Given the description of an element on the screen output the (x, y) to click on. 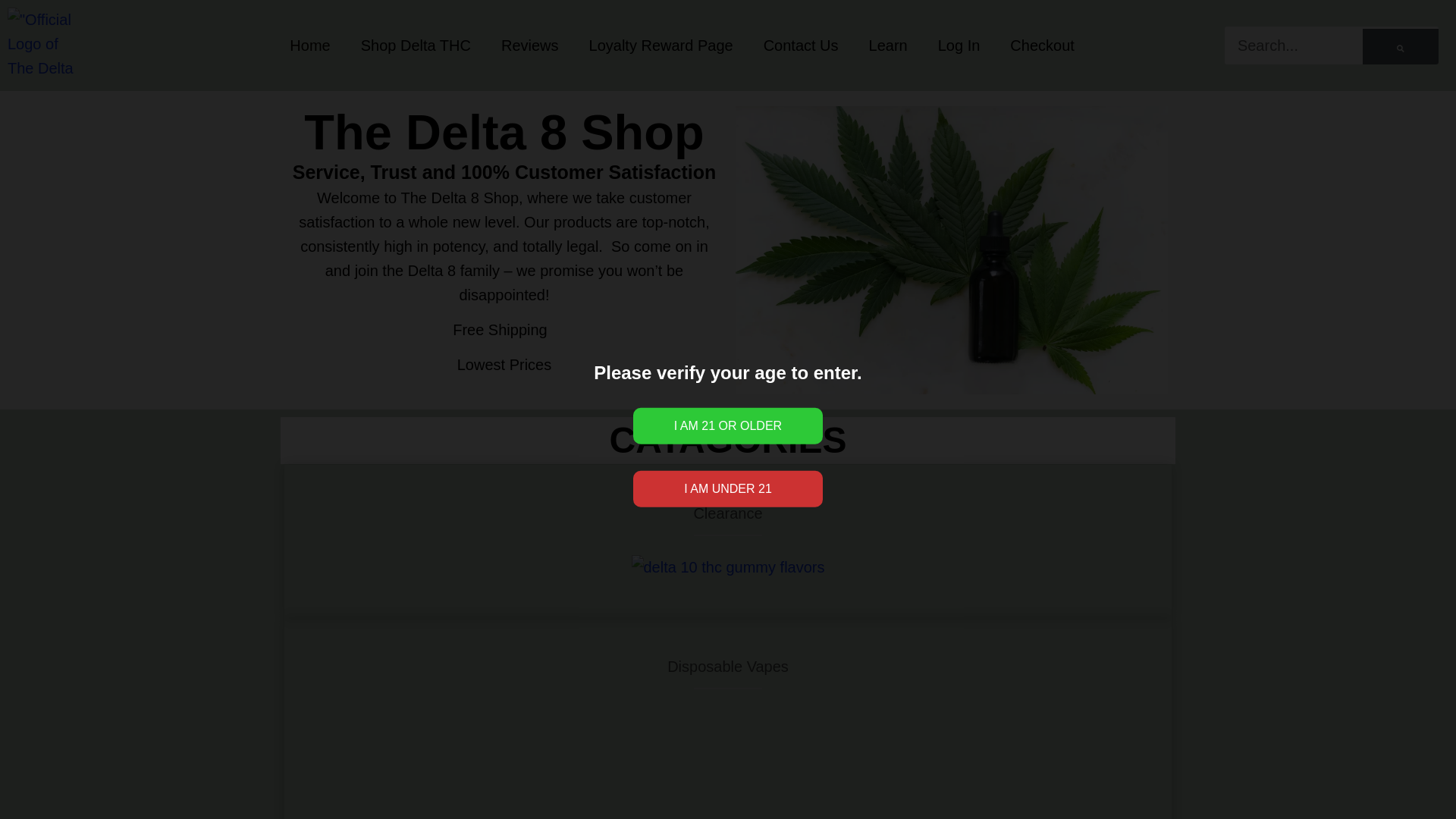
I am under 21 (727, 488)
Learn (888, 45)
Disposable Vapes (727, 666)
I am 21 or older (727, 425)
Loyalty Reward Page (660, 45)
Home (310, 45)
Checkout (1041, 45)
Log In (959, 45)
Clearance (727, 513)
Shop Delta THC (416, 45)
